Given the description of an element on the screen output the (x, y) to click on. 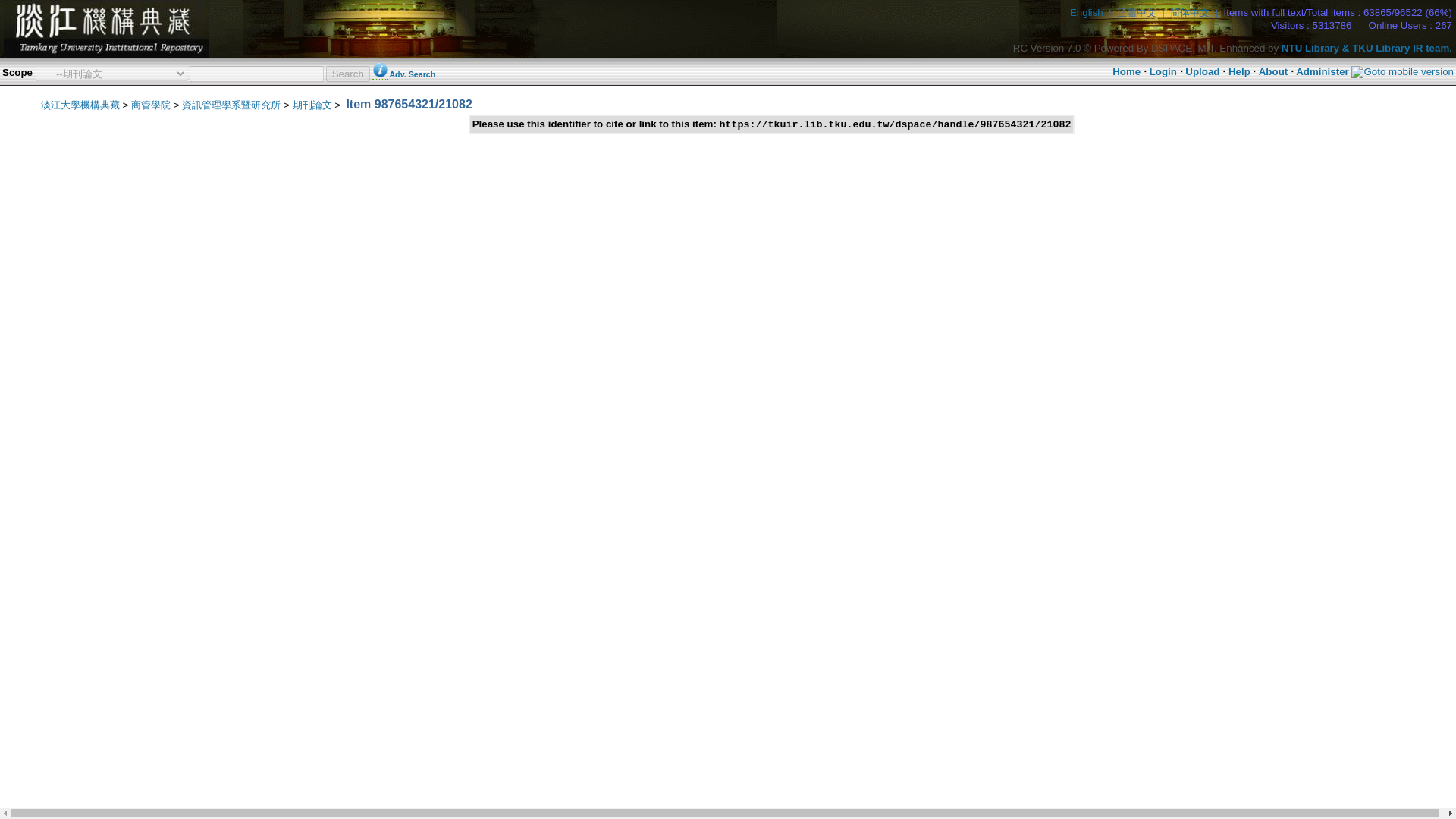
About (1273, 70)
Help (1239, 70)
Adv. Search (411, 73)
Home (1126, 70)
Upload (1202, 70)
Search (347, 73)
Goto mobile version (1402, 70)
Login (1163, 70)
English (1087, 12)
Administer (1322, 70)
